Given the description of an element on the screen output the (x, y) to click on. 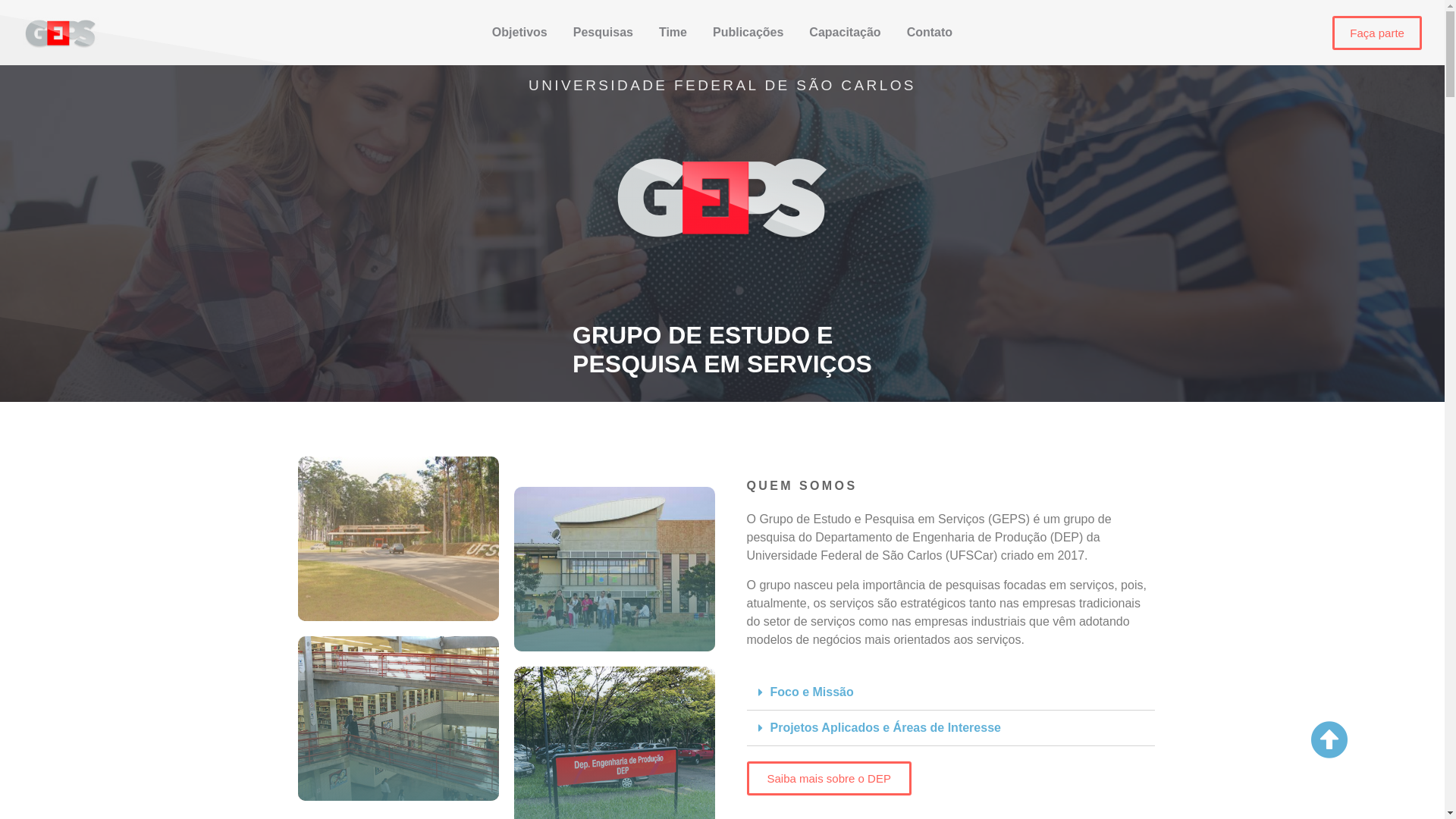
Time Element type: text (672, 32)
Contato Element type: text (929, 32)
Pesquisas Element type: text (603, 32)
Objetivos Element type: text (519, 32)
Saiba mais sobre o DEP Element type: text (828, 778)
